Given the description of an element on the screen output the (x, y) to click on. 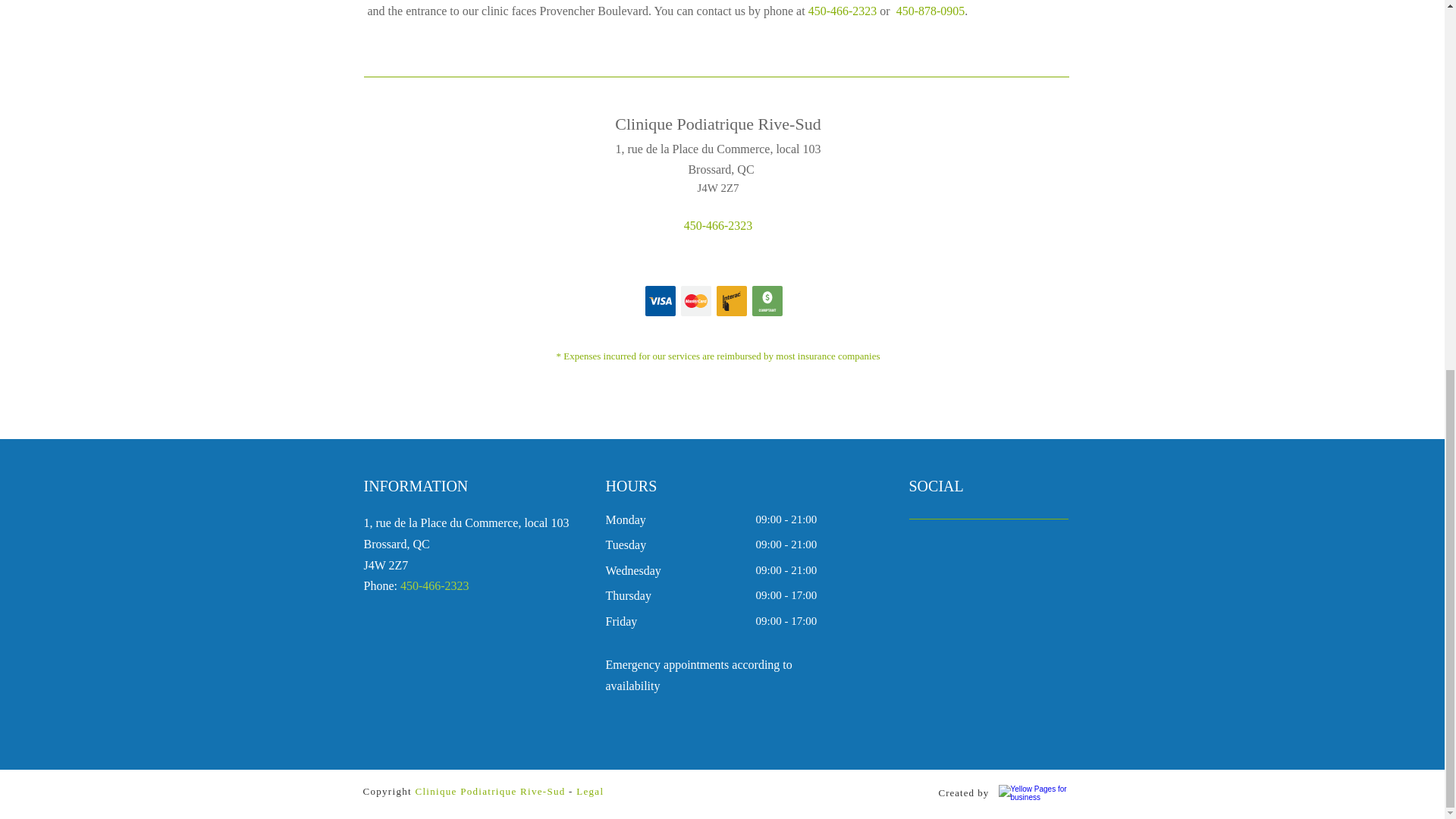
450-878-0905 (929, 10)
450-466-2323 (842, 10)
Clinique Podiatrique Rive-Sud (489, 790)
Legal (590, 790)
450-466-2323 (434, 585)
450-466-2323 (718, 225)
